Given the description of an element on the screen output the (x, y) to click on. 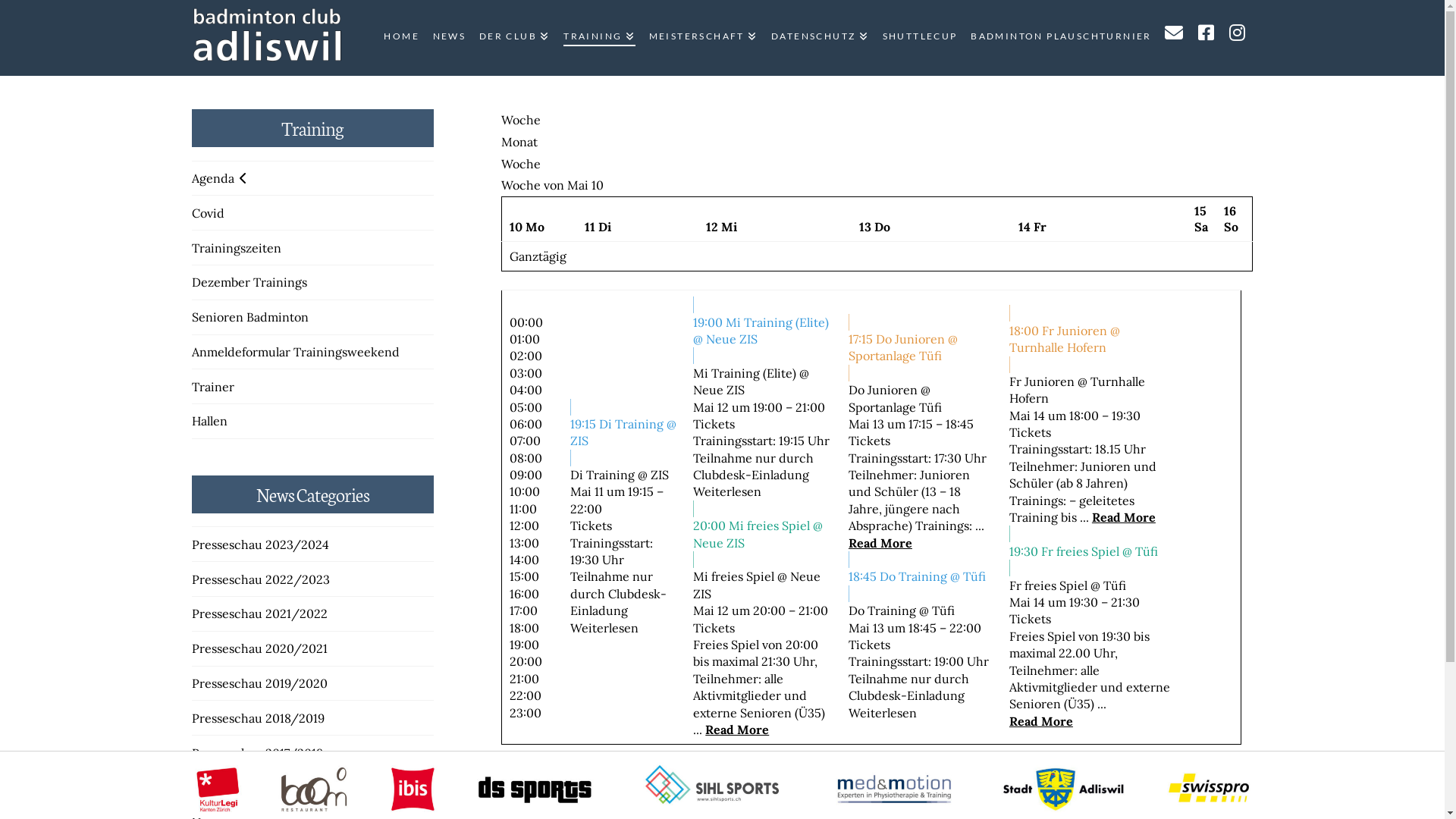
Agenda Element type: text (218, 178)
10 Mo Element type: text (526, 226)
Hallen Element type: text (208, 420)
HOME Element type: text (400, 37)
Read More Element type: text (736, 729)
19:15 Di Training @ ZIS Element type: text (624, 432)
DER CLUB Element type: text (513, 37)
Dezember Trainings Element type: text (248, 282)
Woche Element type: text (520, 119)
Trainingszeiten Element type: text (235, 247)
20:00 Mi freies Spiel @ Neue ZIS Element type: text (763, 533)
Anmeldeformular Trainingsweekend Element type: text (294, 351)
BADMINTON PLAUSCHTURNIER Element type: text (1060, 37)
Read More Element type: text (1041, 720)
MEISTERSCHAFT Element type: text (702, 37)
12 Mi Element type: text (721, 226)
Senioren Badminton Element type: text (249, 316)
Presseschau 2019/2020 Element type: text (258, 683)
13 Do Element type: text (874, 226)
TRAINING Element type: text (597, 37)
Mi freies Spiel Element type: text (733, 575)
Woche Element type: text (520, 163)
Presseschau 2018/2019 Element type: text (257, 718)
SHUTTLECUP Element type: text (919, 37)
Presseschau 2020/2021 Element type: text (258, 648)
Infos zum BCA Element type: hover (266, 33)
Presseschau 2016/2017 Element type: text (256, 787)
16 So Element type: text (1230, 218)
Presseschau 2023/2024 Element type: text (259, 544)
Do Training Element type: text (882, 610)
Fr freies Spiel Element type: text (1048, 585)
Fr Junioren Element type: text (1041, 381)
11 Di Element type: text (597, 226)
Tickets Element type: text (869, 440)
14 Fr Element type: text (1032, 226)
DATENSCHUTZ Element type: text (819, 37)
Tickets Element type: text (713, 423)
Presseschau 2021/2022 Element type: text (258, 613)
Tickets Element type: text (713, 627)
15 Sa Element type: text (1201, 218)
Covid Element type: text (207, 212)
Mi Training (Elite) Element type: text (744, 372)
Do Junioren Element type: text (882, 389)
Read More Element type: text (880, 542)
18:00 Fr Junioren @ Turnhalle Hofern Element type: text (1090, 338)
Presseschau 2022/2023 Element type: text (260, 579)
Trainer Element type: text (212, 386)
Tickets Element type: text (869, 644)
Tickets Element type: text (1030, 618)
Woche von Mai 10 Element type: text (552, 773)
Tickets Element type: text (1030, 431)
Woche von Mai 10 Element type: text (552, 184)
19:00 Mi Training (Elite) @ Neue ZIS Element type: text (763, 330)
NEWS Element type: text (448, 37)
Di Training Element type: text (602, 474)
Monat Element type: text (519, 141)
Presseschau 2017/2018 Element type: text (256, 752)
Tickets Element type: text (590, 525)
Read More Element type: text (1123, 516)
